Given the description of an element on the screen output the (x, y) to click on. 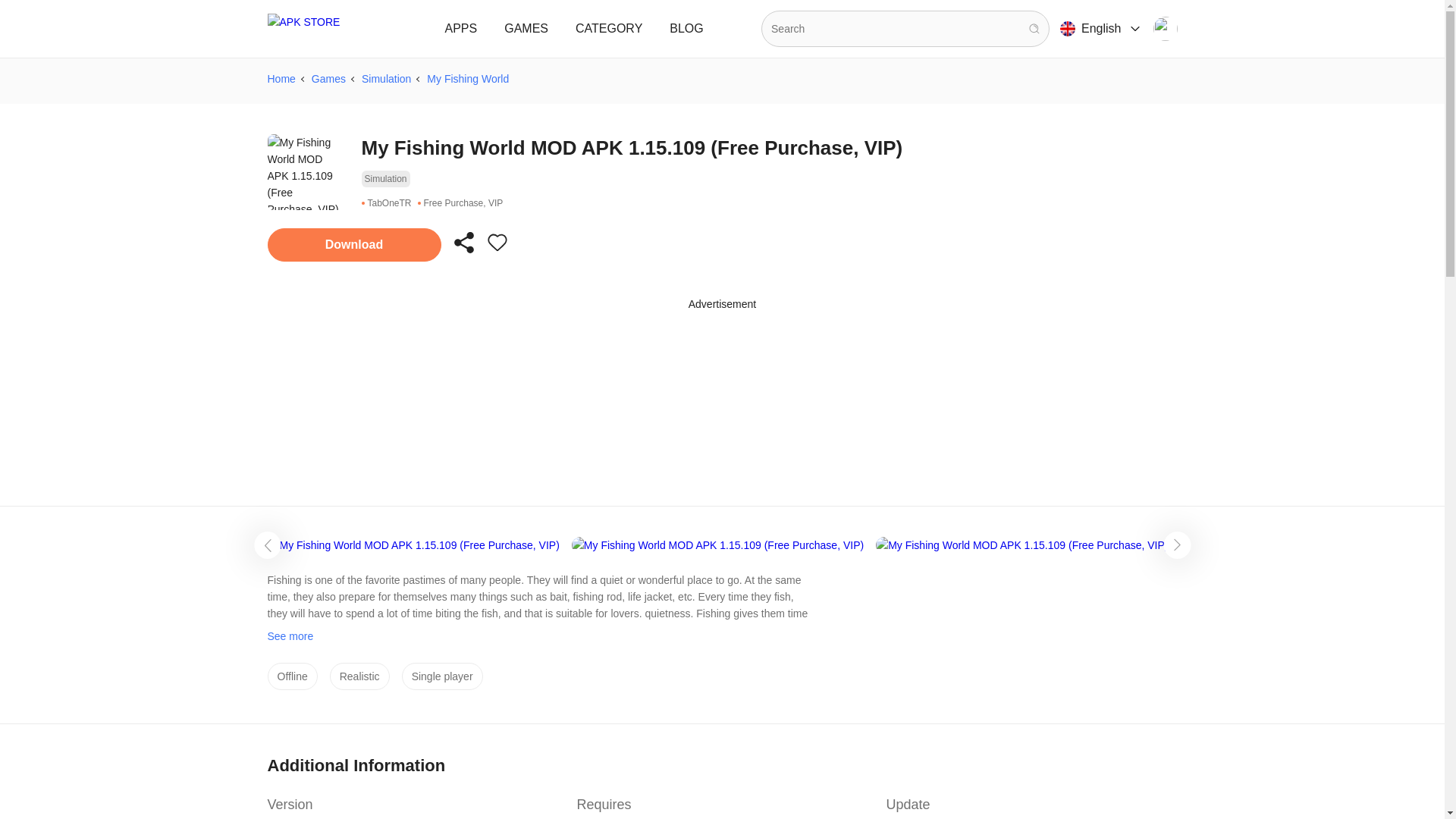
Download (353, 244)
My Fishing World (467, 78)
Games (328, 78)
APPS (460, 28)
BLOG (686, 28)
Simulation (385, 178)
GAMES (526, 28)
Home (280, 78)
Simulation (385, 78)
CATEGORY (608, 28)
